Given the description of an element on the screen output the (x, y) to click on. 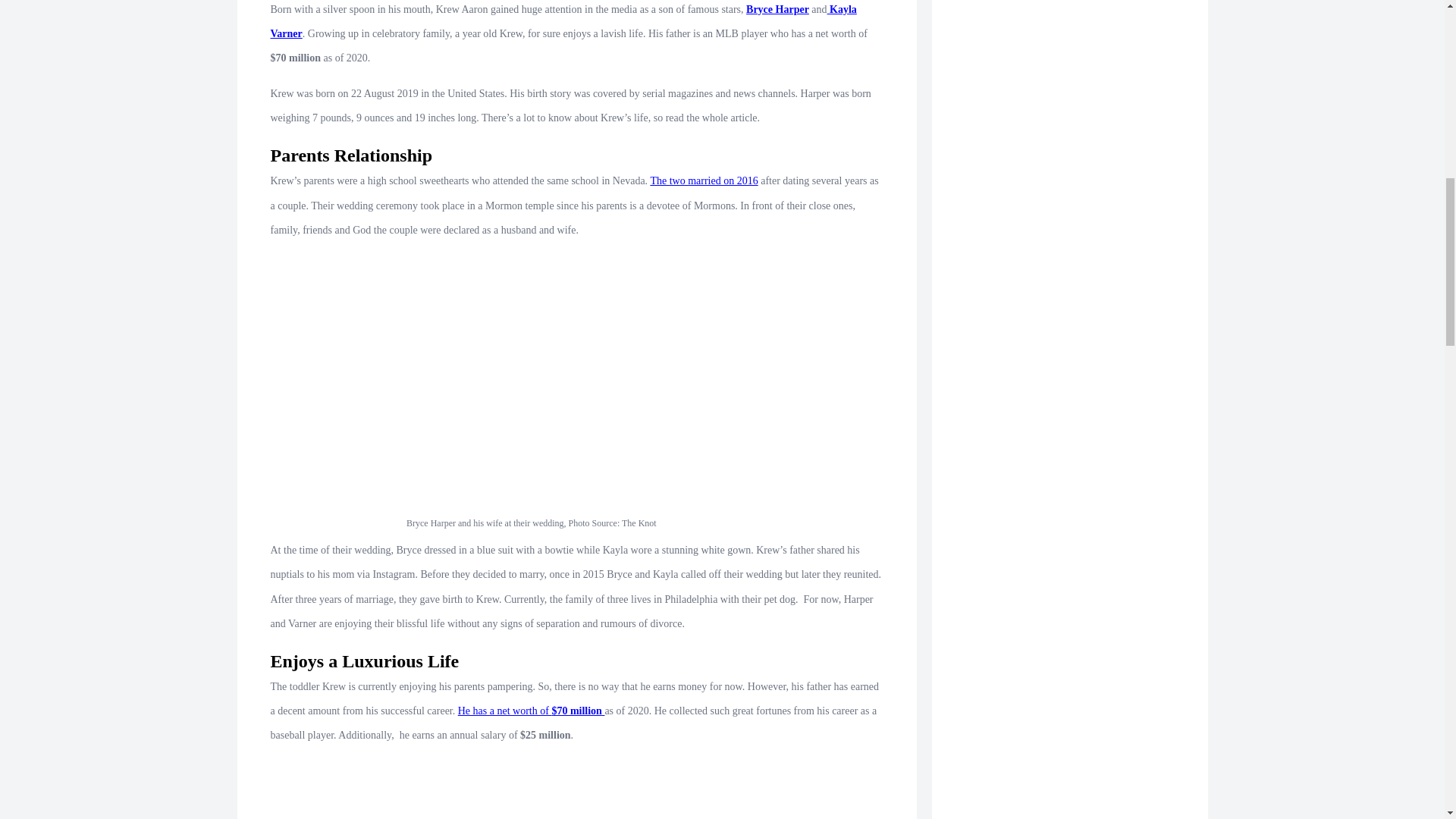
The two married on 2016 (703, 180)
Bryce Harper (777, 9)
Kayla Varner (562, 21)
